Given the description of an element on the screen output the (x, y) to click on. 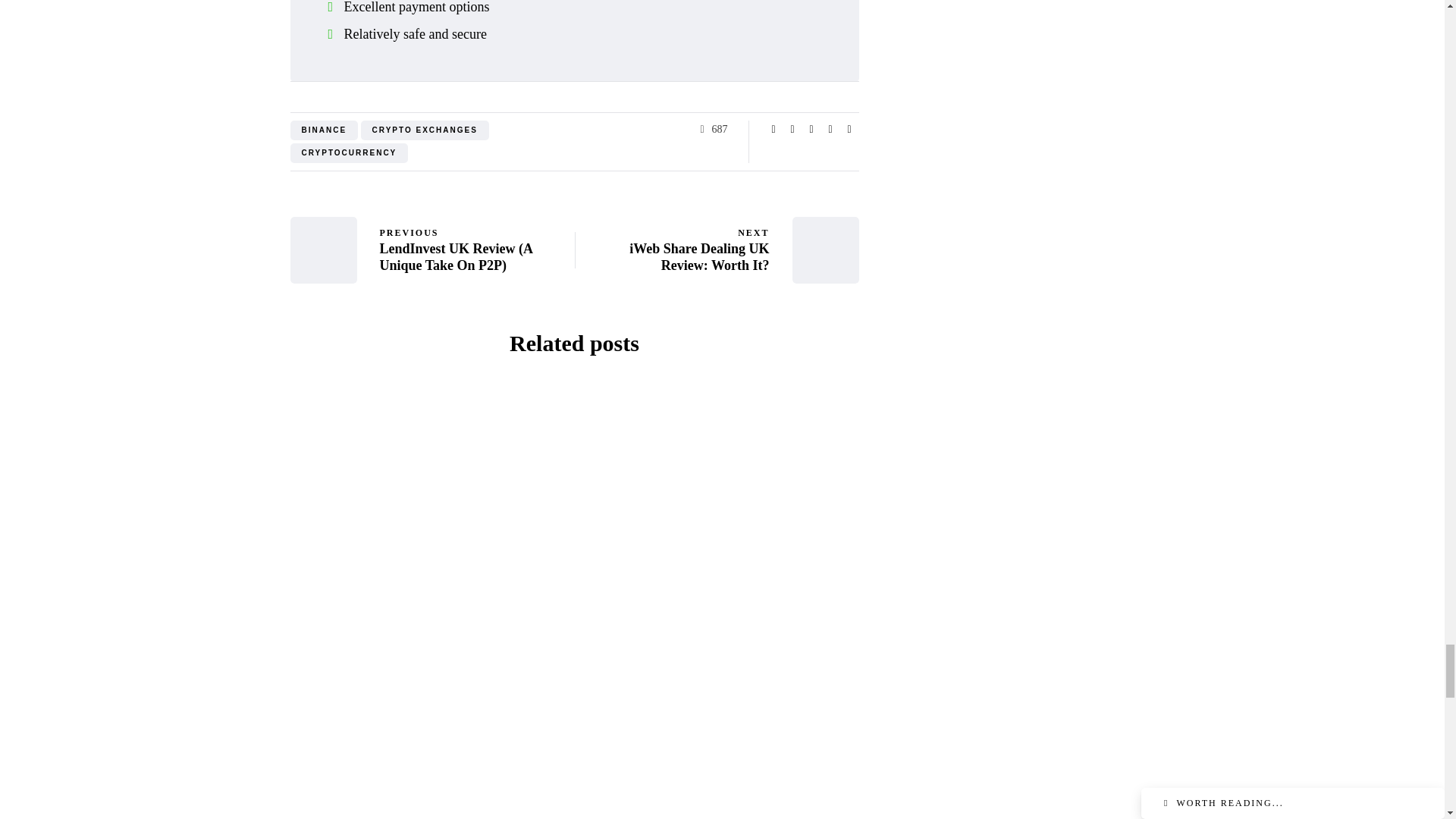
Share with LinkedIn (811, 129)
Pin this (830, 129)
Tweet this (792, 129)
Share with Facebook (773, 129)
Share by Email (849, 129)
